Given the description of an element on the screen output the (x, y) to click on. 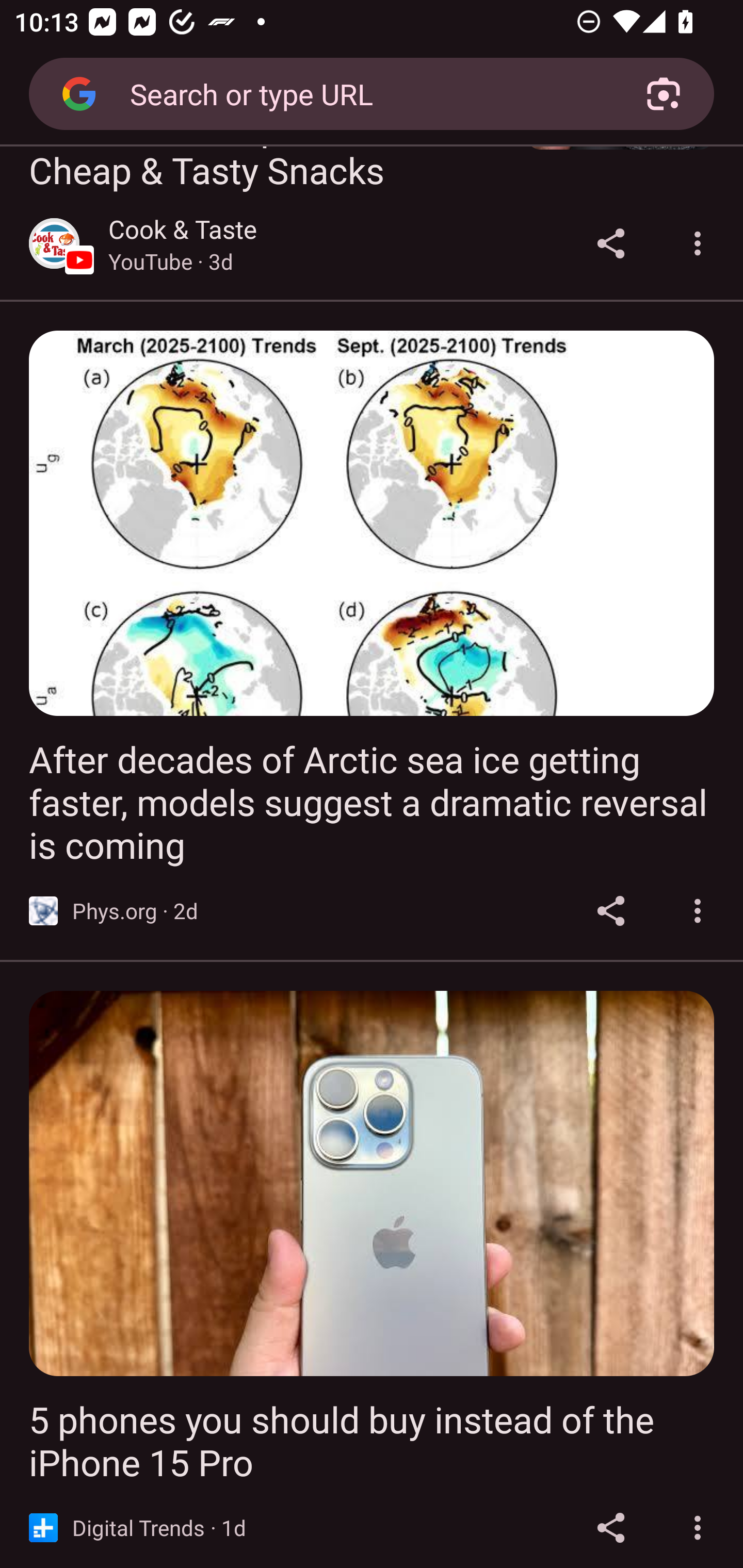
Search with your camera using Google Lens (663, 93)
Search or type URL (364, 92)
